Given the description of an element on the screen output the (x, y) to click on. 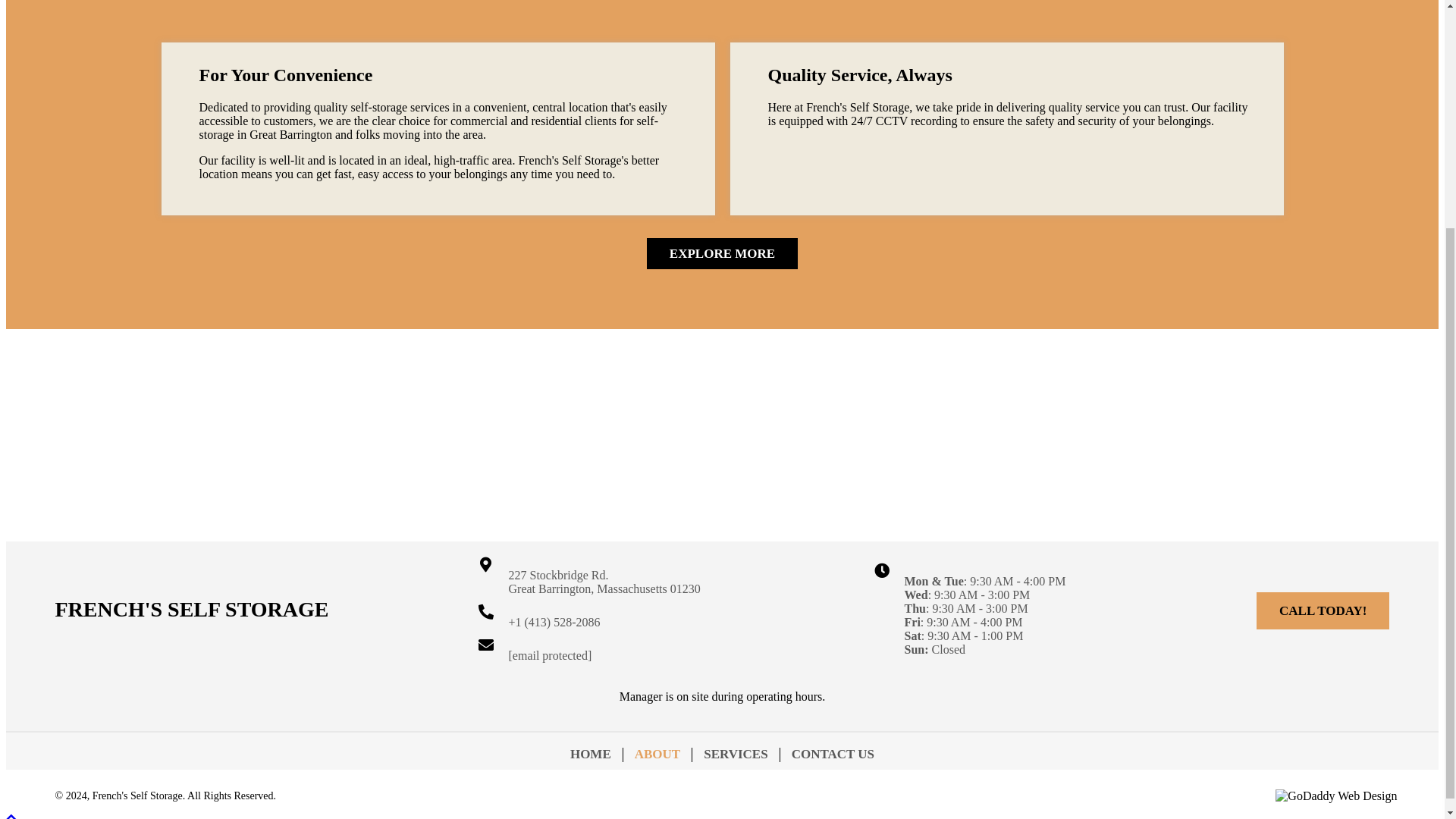
CONTACT US (832, 754)
FRENCH'S SELF STORAGE (192, 608)
EXPLORE MORE (721, 253)
HOME (591, 754)
SERVICES (735, 754)
ABOUT (657, 754)
CALL TODAY! (1322, 610)
